Given the description of an element on the screen output the (x, y) to click on. 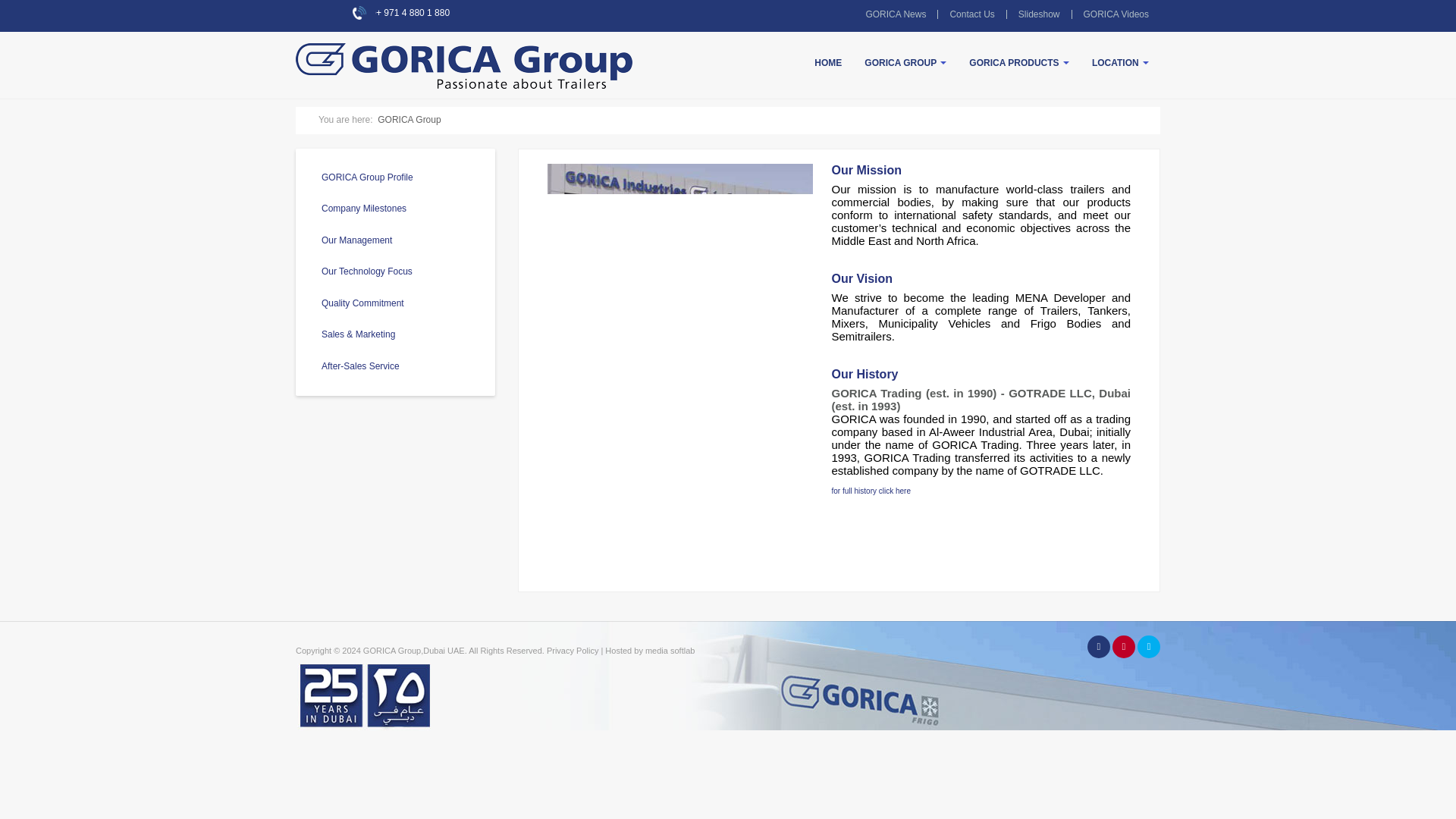
Company Milestones (870, 488)
GORICA Videos (1115, 13)
Contact Us (971, 13)
Slideshow (1039, 13)
GORICA News (895, 13)
Gorica Group (401, 47)
